Given the description of an element on the screen output the (x, y) to click on. 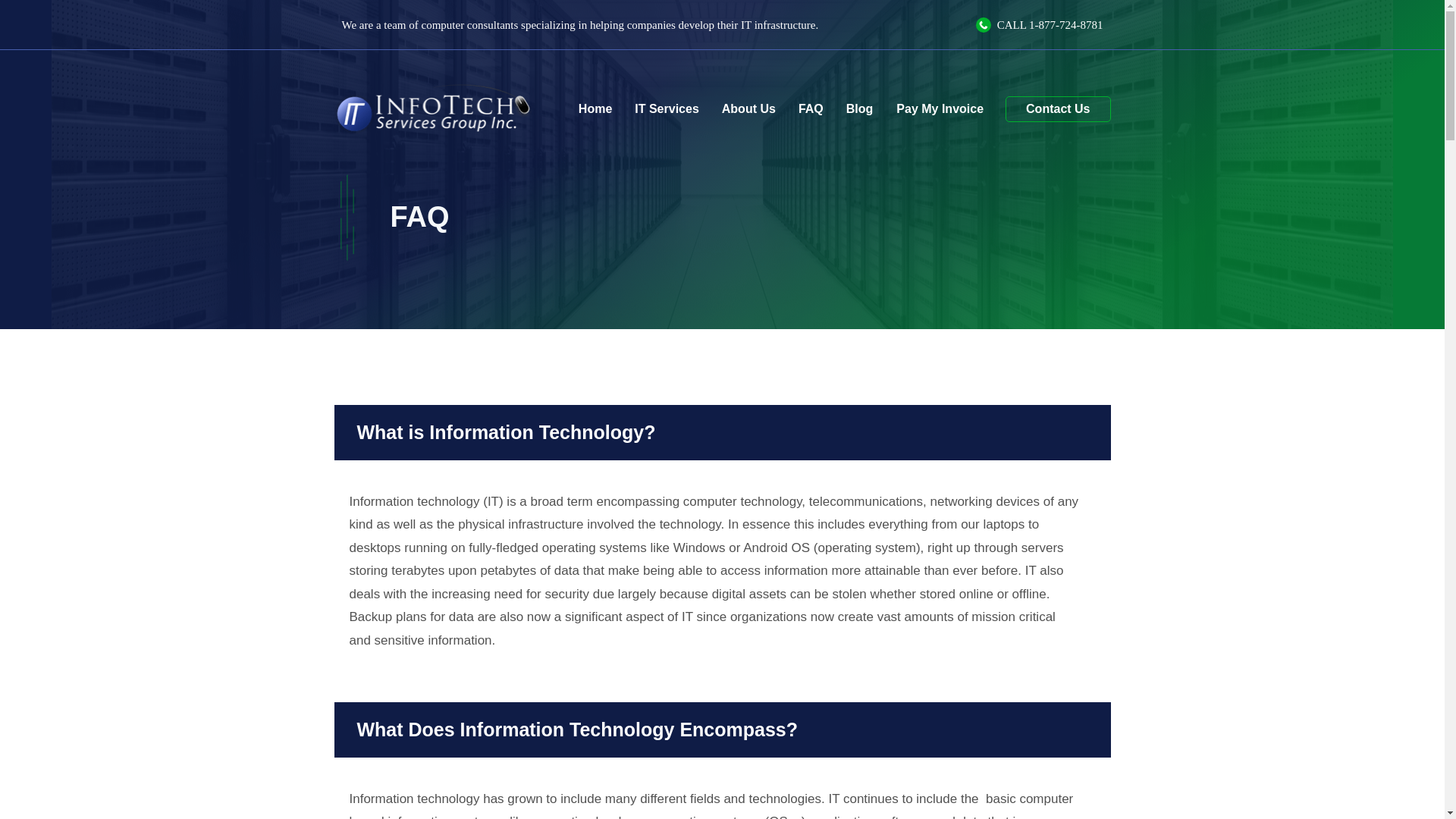
Pay My Invoice (939, 108)
IT Services (666, 108)
Contact Us (1057, 109)
Home (595, 108)
1-877-724-8781 (1066, 24)
About Us (748, 108)
FAQ (810, 108)
Blog (859, 108)
Pay My Invoice (939, 108)
